Given the description of an element on the screen output the (x, y) to click on. 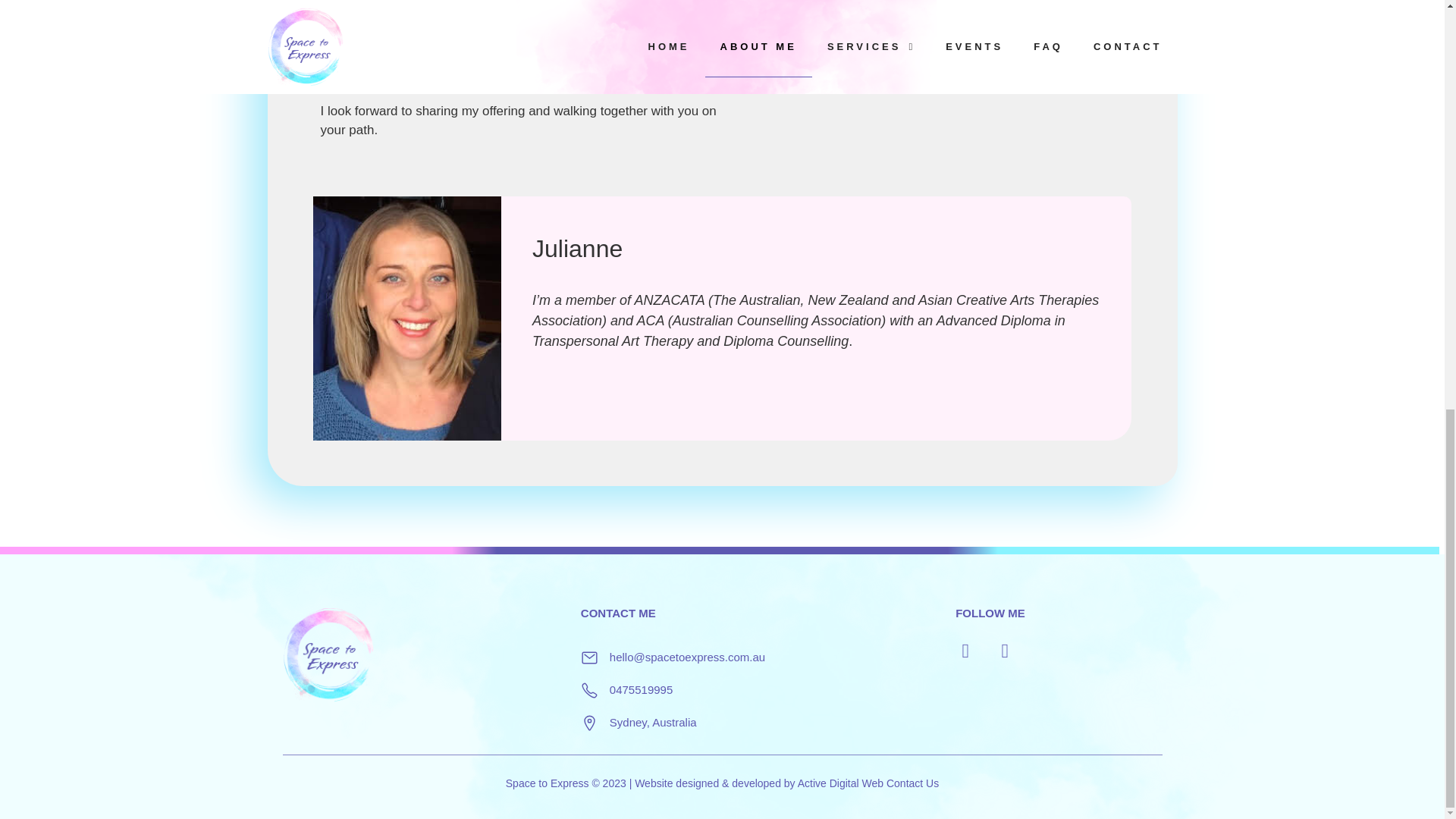
0475519995 (641, 689)
